Given the description of an element on the screen output the (x, y) to click on. 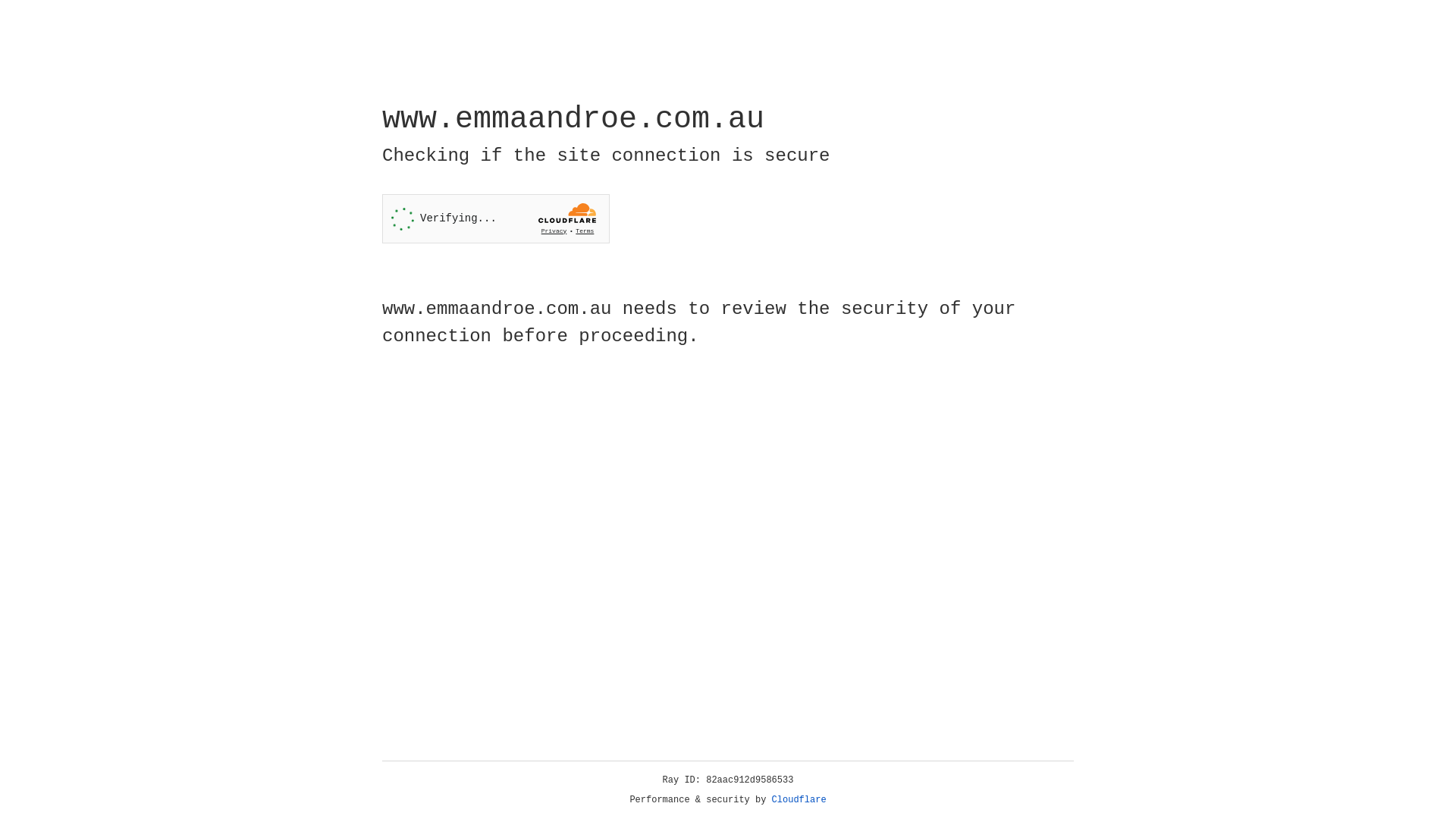
Widget containing a Cloudflare security challenge Element type: hover (495, 218)
Cloudflare Element type: text (798, 799)
